Given the description of an element on the screen output the (x, y) to click on. 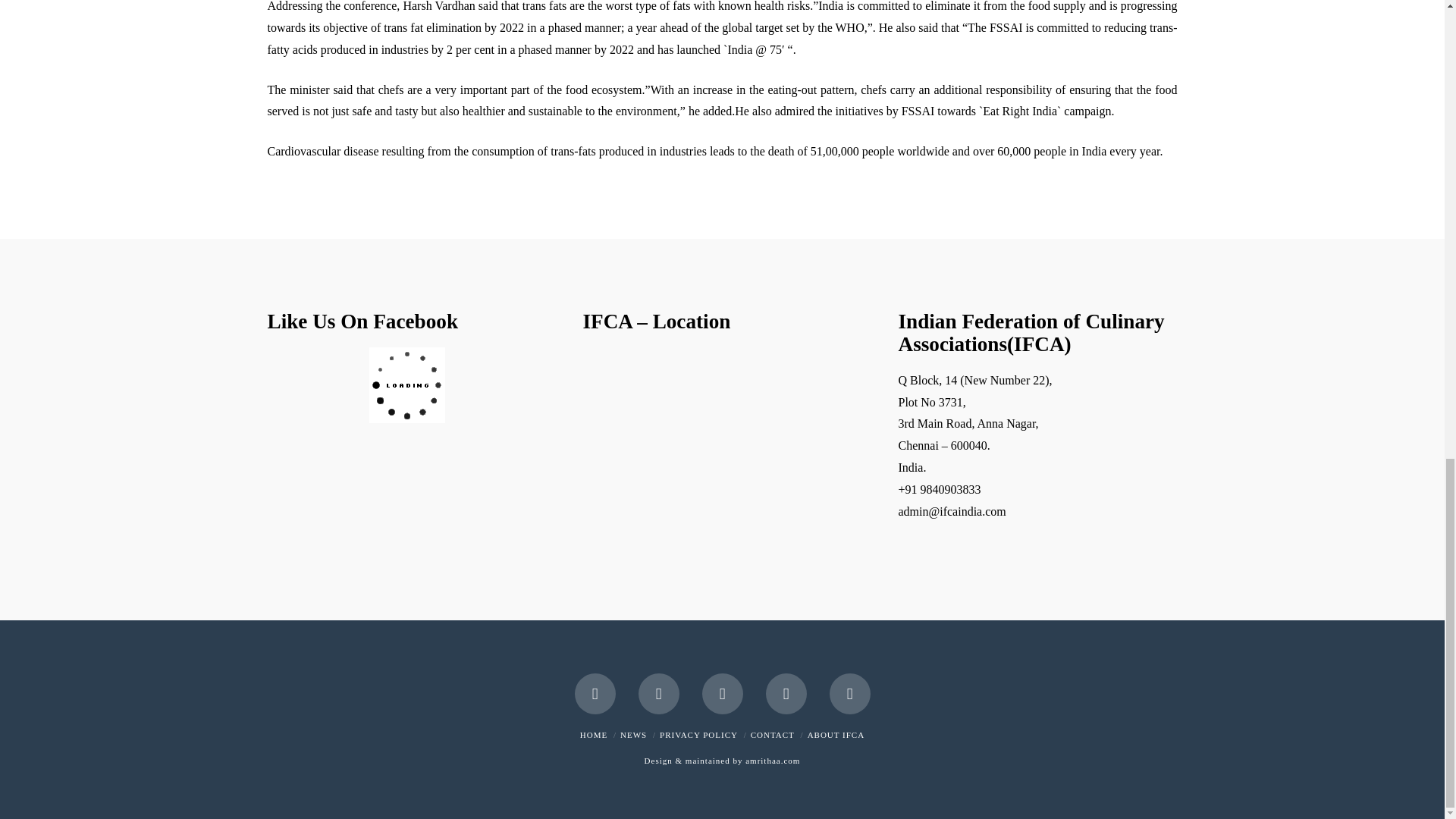
Twitter (659, 693)
Facebook (595, 693)
Instagram (785, 693)
Whatsapp (849, 693)
YouTube (721, 693)
